Given the description of an element on the screen output the (x, y) to click on. 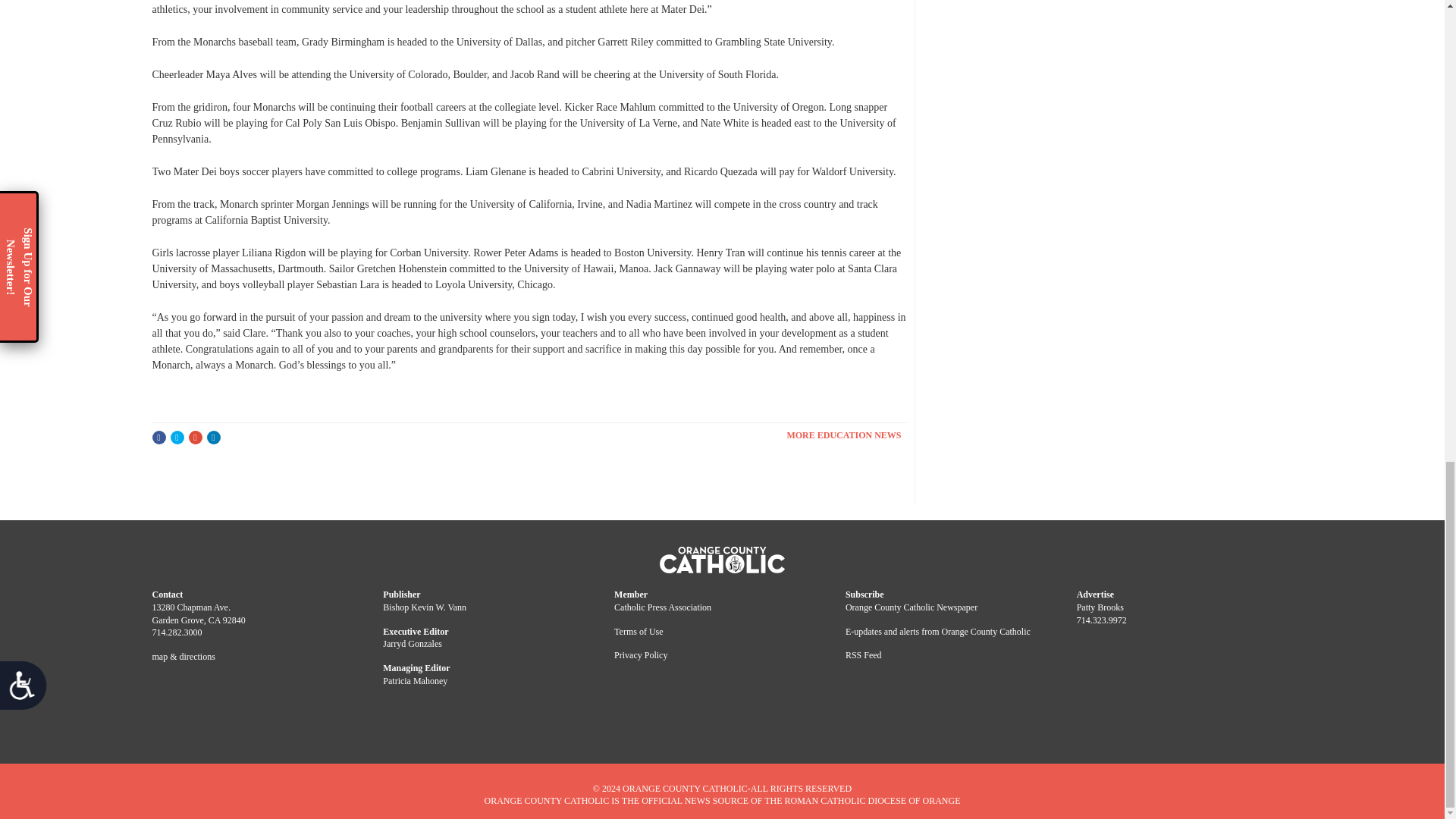
MORE EDUCATION NEWS (845, 434)
Education (845, 434)
